Given the description of an element on the screen output the (x, y) to click on. 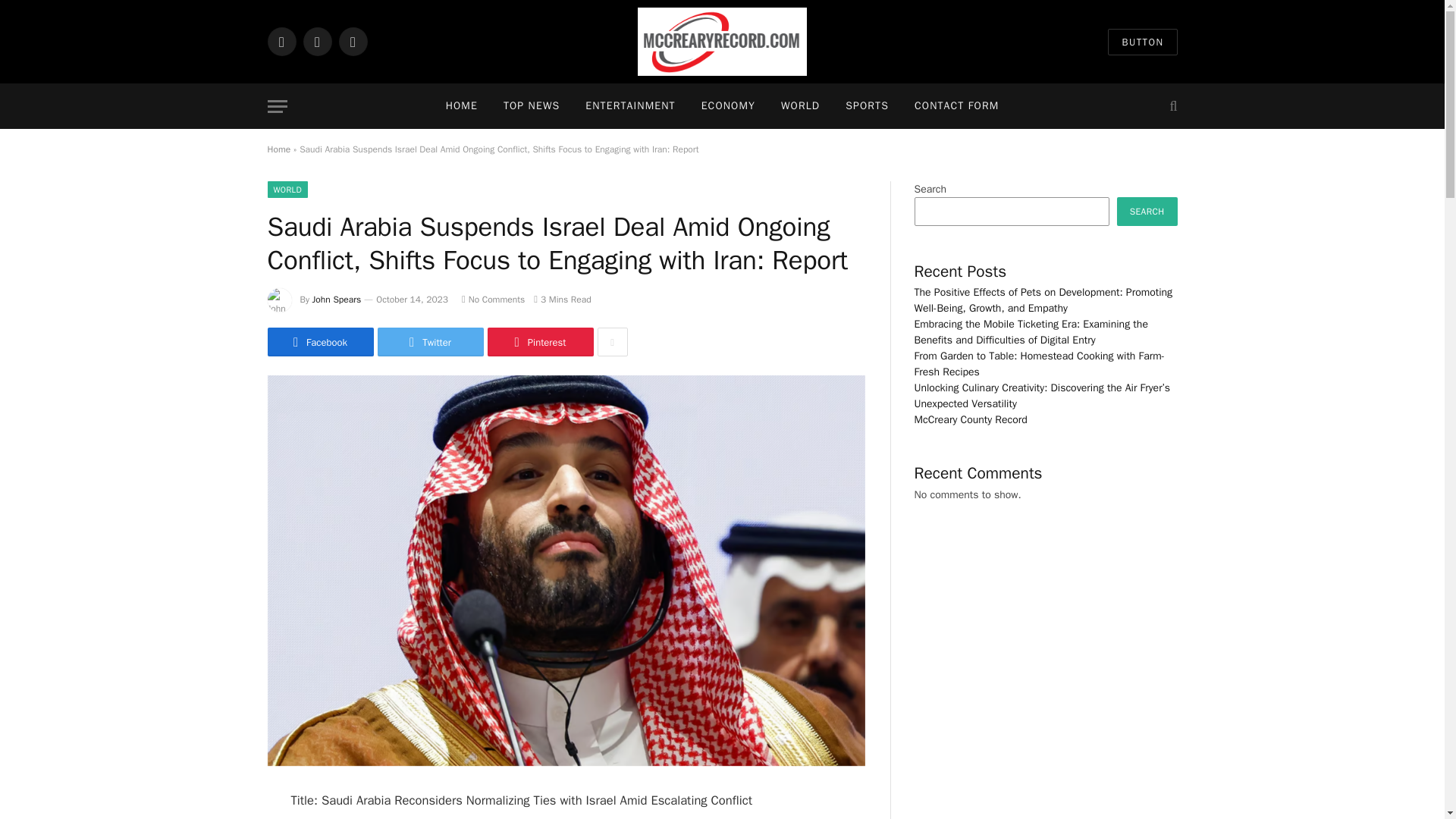
Share on Pinterest (539, 341)
WORLD (286, 189)
Home (277, 149)
TOP NEWS (531, 105)
McCreary County Record (721, 41)
CONTACT FORM (956, 105)
No Comments (492, 299)
Posts by John Spears (337, 299)
Facebook (280, 41)
